Given the description of an element on the screen output the (x, y) to click on. 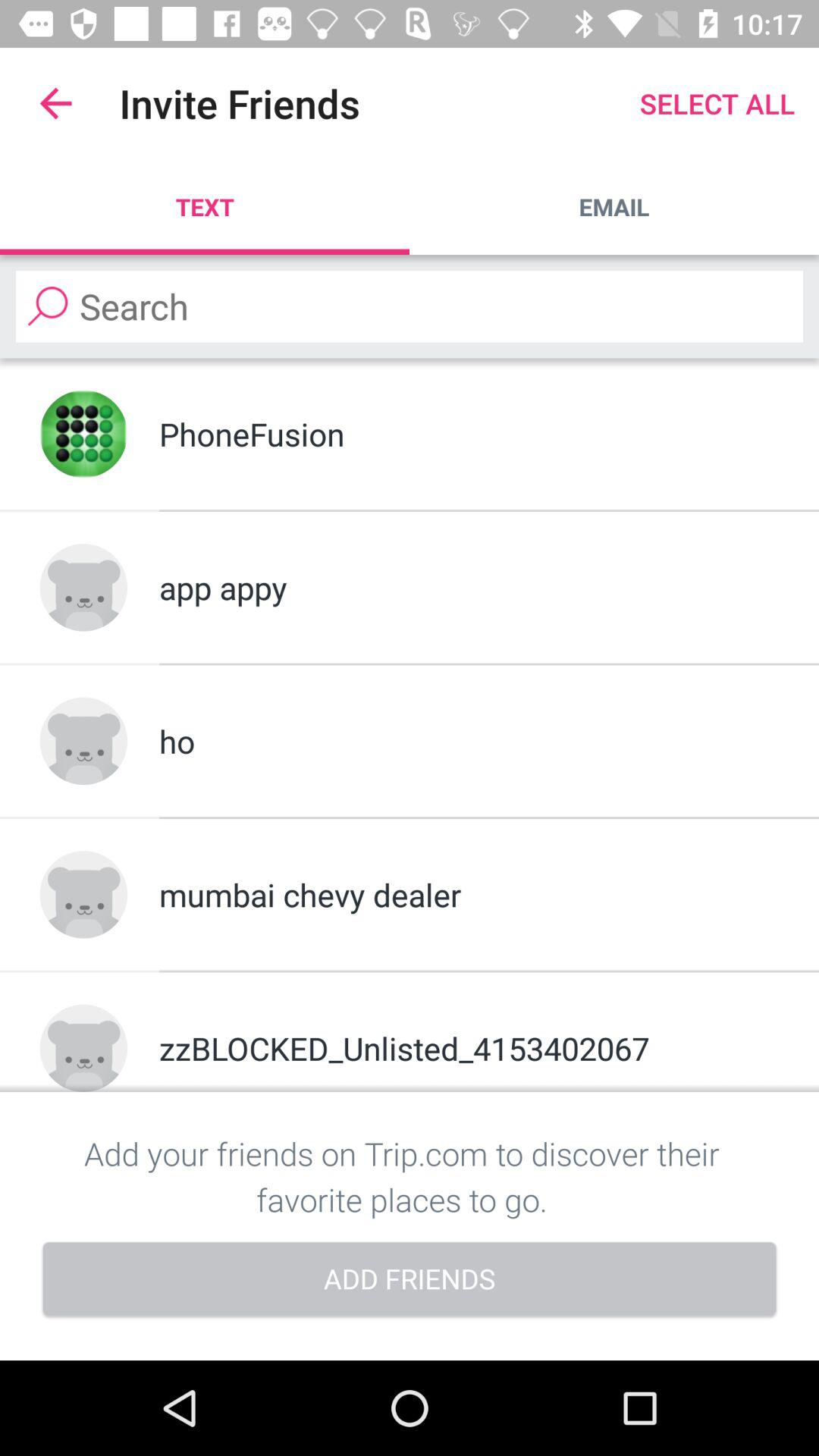
scroll until zzblocked_unlisted_4153402067 icon (469, 1048)
